Given the description of an element on the screen output the (x, y) to click on. 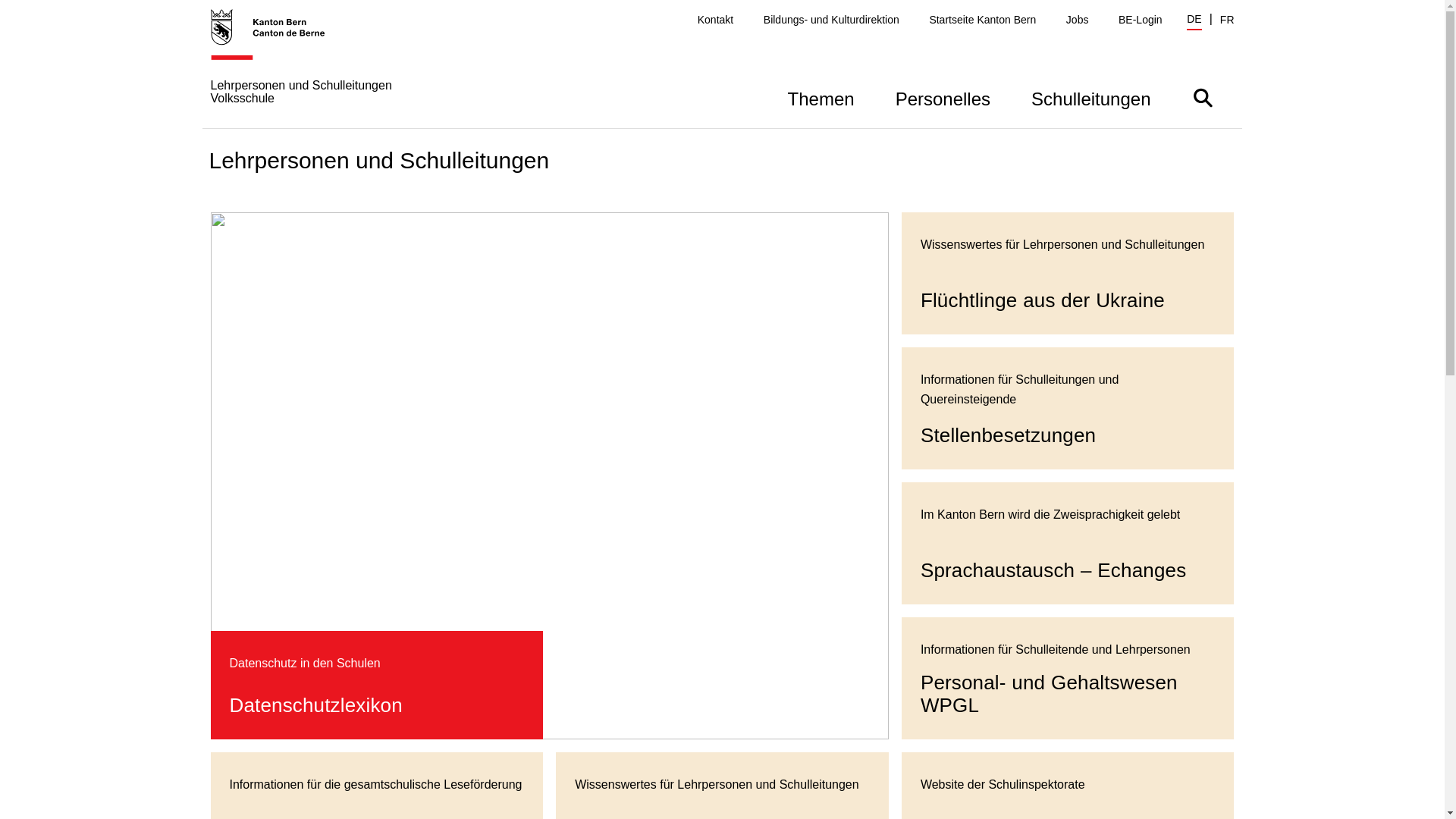
BE-Login Element type: text (1140, 19)
Jobs Element type: text (1077, 19)
Themen Element type: text (821, 96)
Lehrpersonen und Schulleitungen Volksschule Element type: text (331, 68)
Kontakt Element type: text (715, 19)
Startseite Kanton Bern Element type: text (981, 19)
Bildungs- und Kulturdirektion Element type: text (831, 19)
Personelles Element type: text (942, 96)
Datenschutzlexikon
Datenschutz in den Schulen Element type: text (549, 475)
Suche ein- oder ausblenden Element type: text (1201, 96)
DE Element type: text (1193, 21)
Schulleitungen Element type: text (1090, 96)
FR Element type: text (1227, 19)
